Given the description of an element on the screen output the (x, y) to click on. 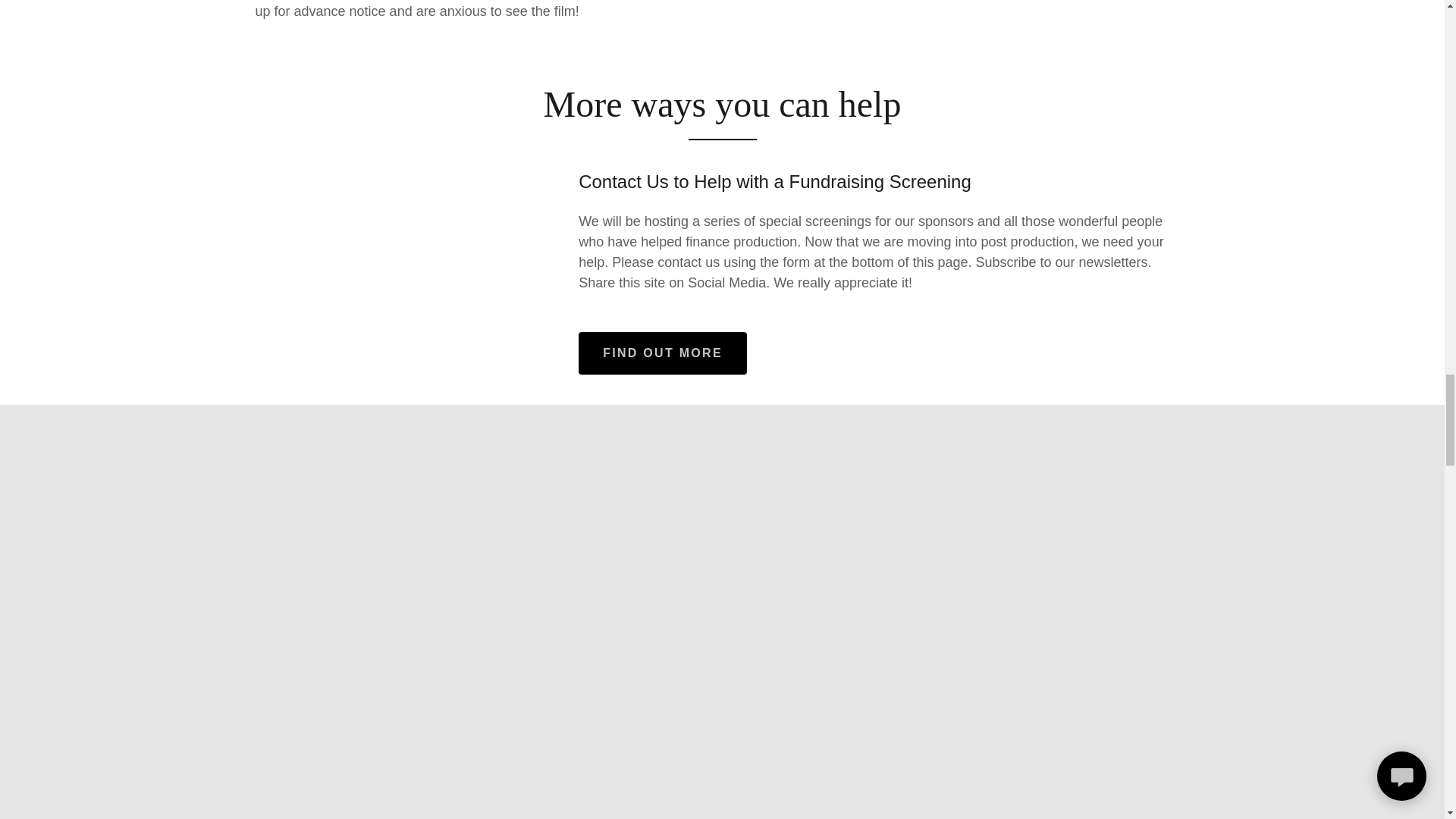
FIND OUT MORE (662, 353)
